Given the description of an element on the screen output the (x, y) to click on. 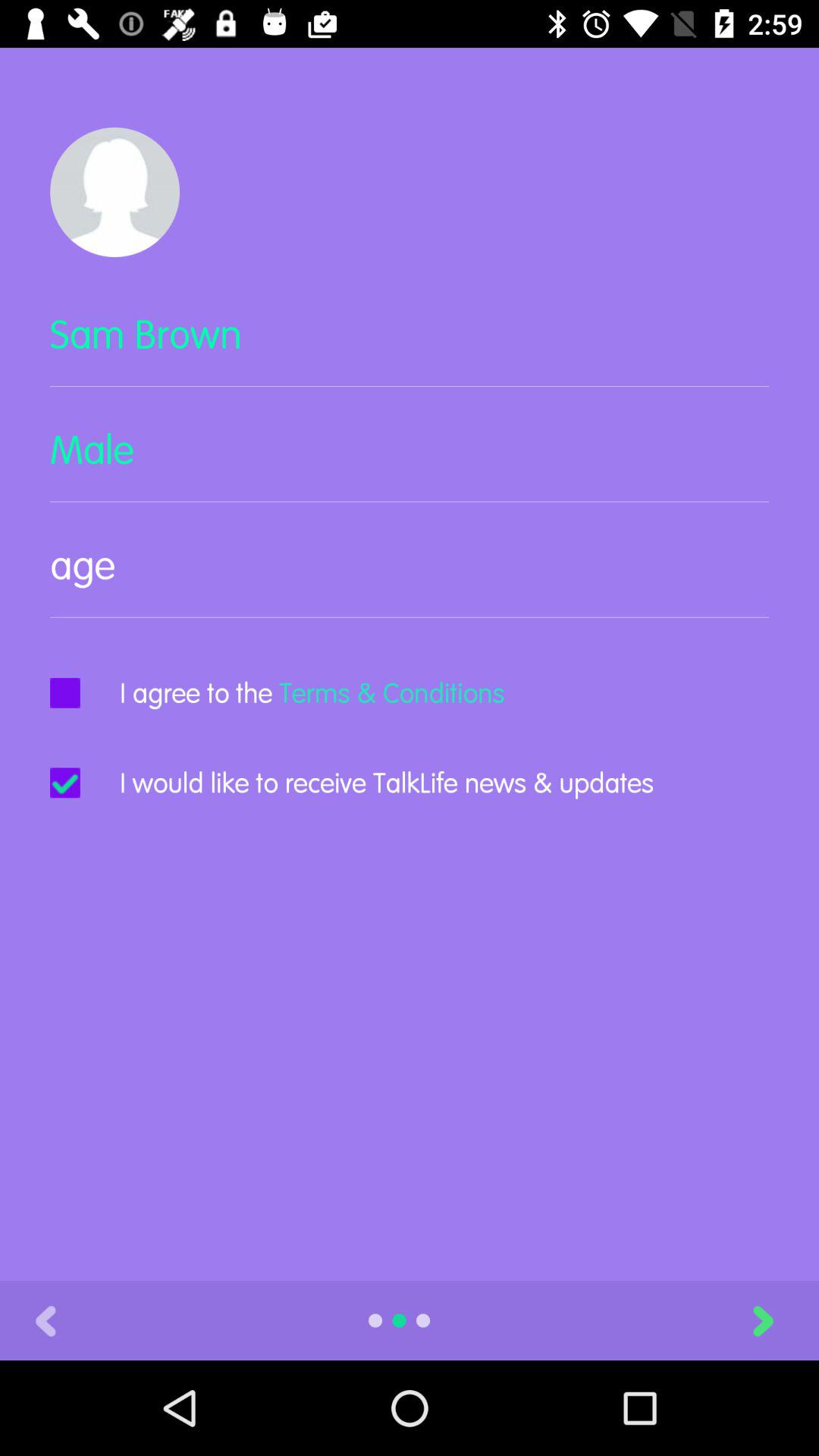
profile picture (114, 192)
